Given the description of an element on the screen output the (x, y) to click on. 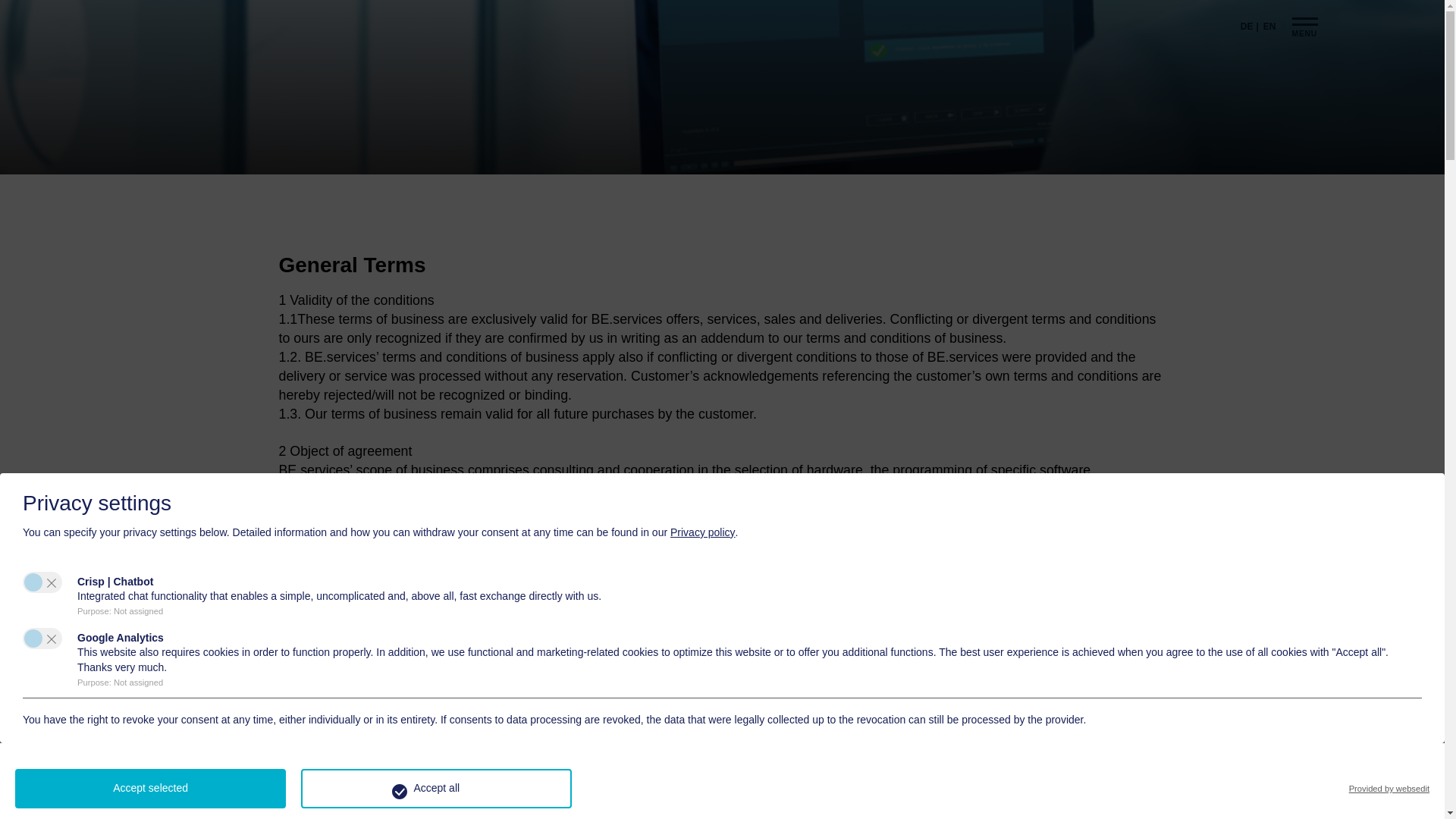
DE (1249, 27)
DE (1249, 27)
Privacy policy (702, 532)
Accept all (436, 788)
Provided by websedit (1389, 788)
Accept selected (149, 788)
